Given the description of an element on the screen output the (x, y) to click on. 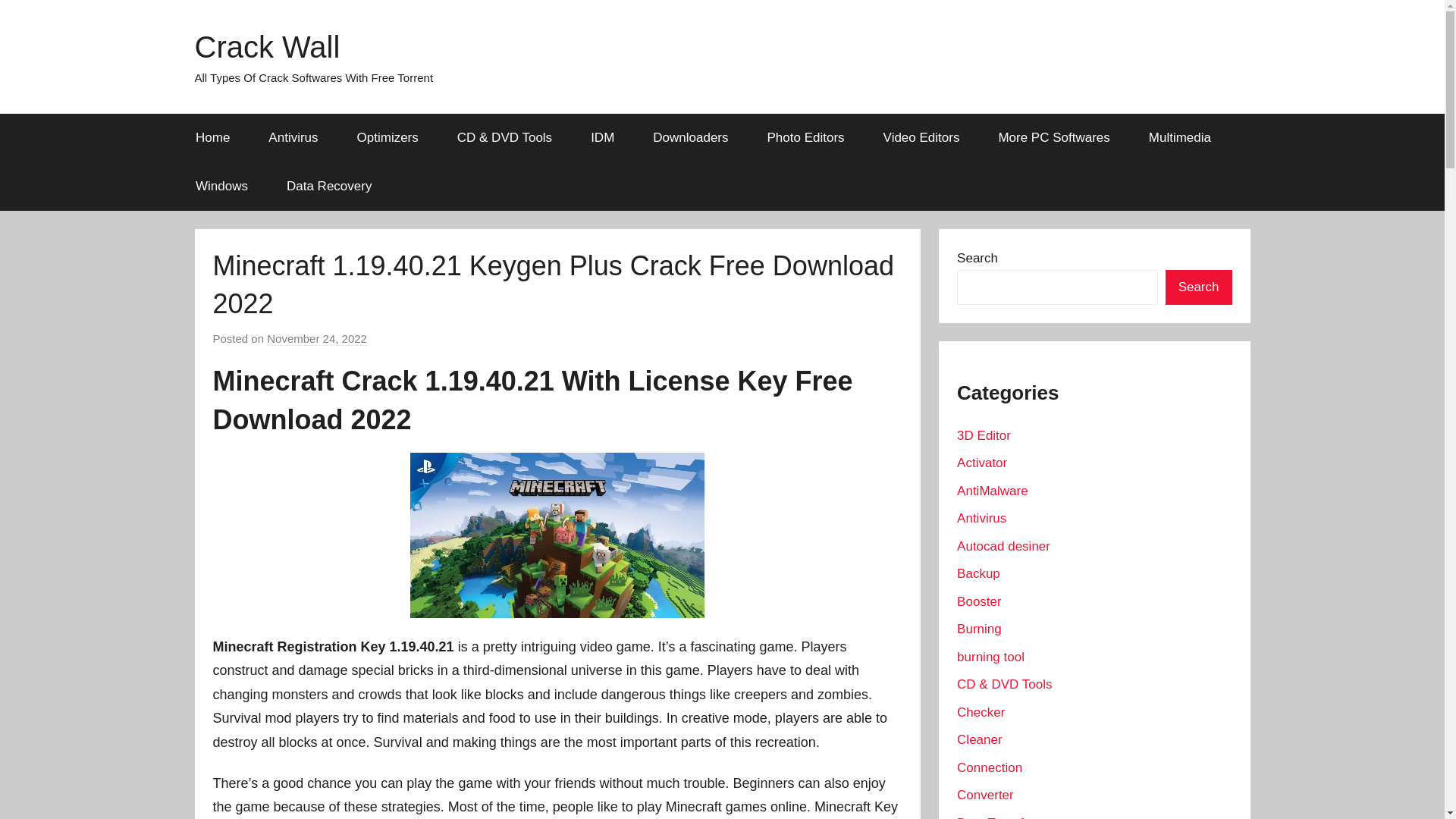
More PC Softwares (1053, 137)
Antivirus (292, 137)
burning tool (990, 657)
Multimedia (1179, 137)
Burning (978, 628)
IDM (602, 137)
Cleaner (979, 739)
Backup (978, 573)
Booster (978, 601)
Search (1198, 287)
Checker (980, 712)
Home (212, 137)
Video Editors (920, 137)
Autocad desiner (1002, 545)
Connection (989, 767)
